Given the description of an element on the screen output the (x, y) to click on. 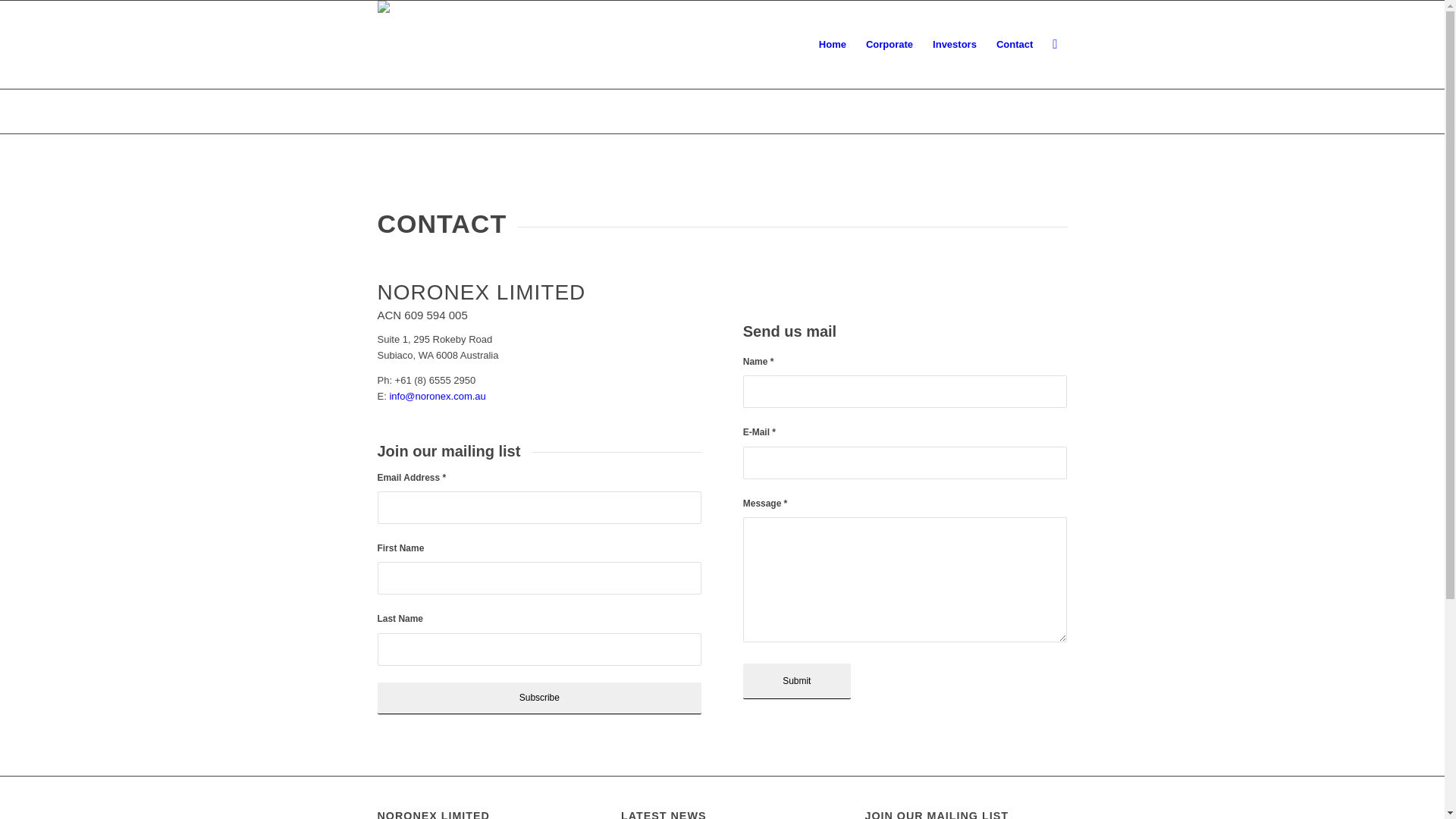
Home Element type: text (832, 44)
info@noronex.com.au Element type: text (437, 395)
Noronex-Limited-web Element type: hover (419, 14)
Investors Element type: text (954, 44)
Subscribe Element type: text (539, 698)
Corporate Element type: text (889, 44)
Submit Element type: text (796, 681)
Noronex-Limited-web Element type: hover (419, 44)
Contact Element type: text (1014, 44)
